Given the description of an element on the screen output the (x, y) to click on. 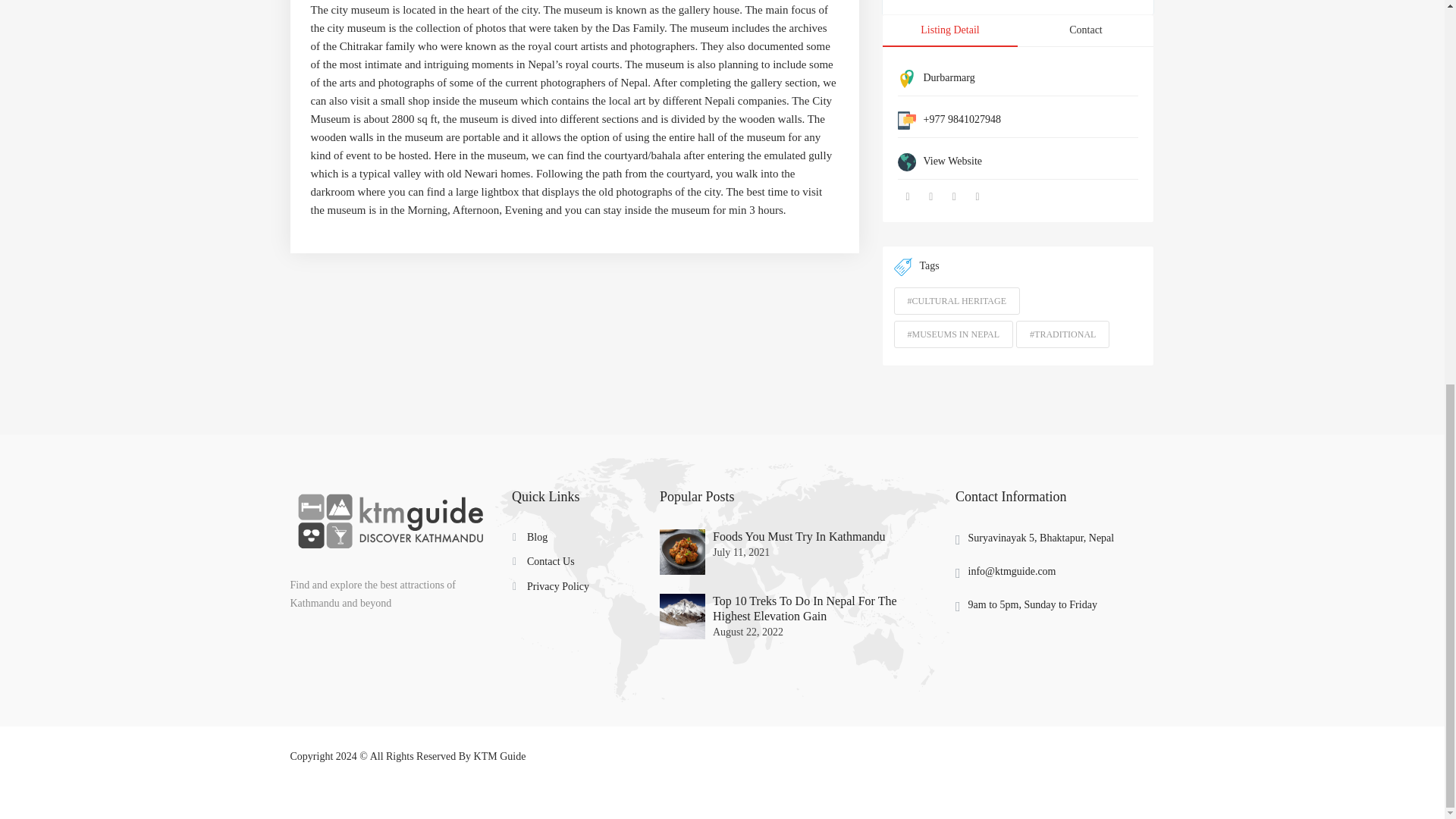
Listing Detail (949, 30)
Contact (1085, 30)
traditional (1062, 334)
View Website (952, 161)
museums in nepal (953, 334)
Durbarmarg (949, 77)
cultural heritage (956, 300)
